Given the description of an element on the screen output the (x, y) to click on. 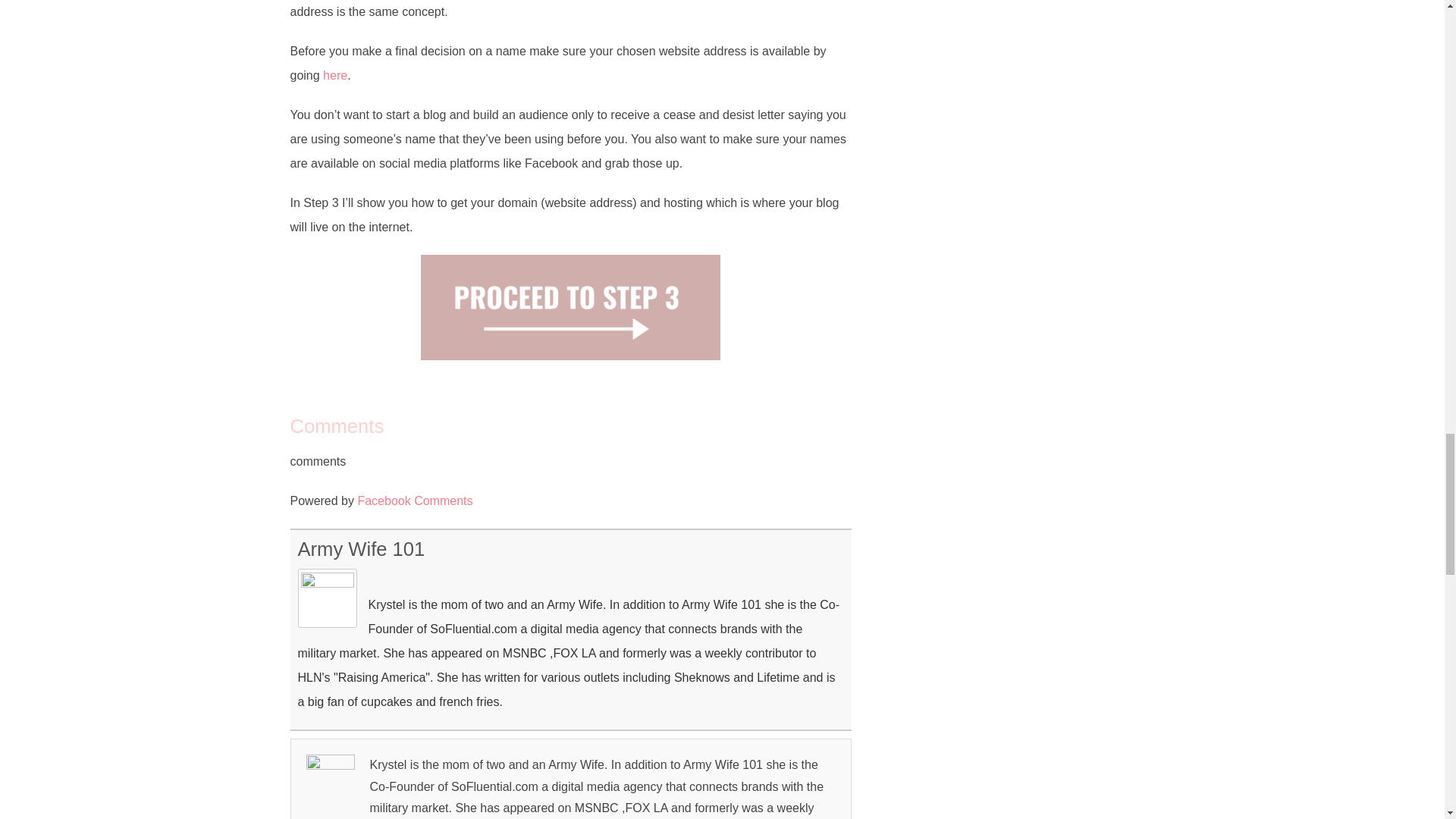
All posts by Army Wife 101 (361, 548)
